Given the description of an element on the screen output the (x, y) to click on. 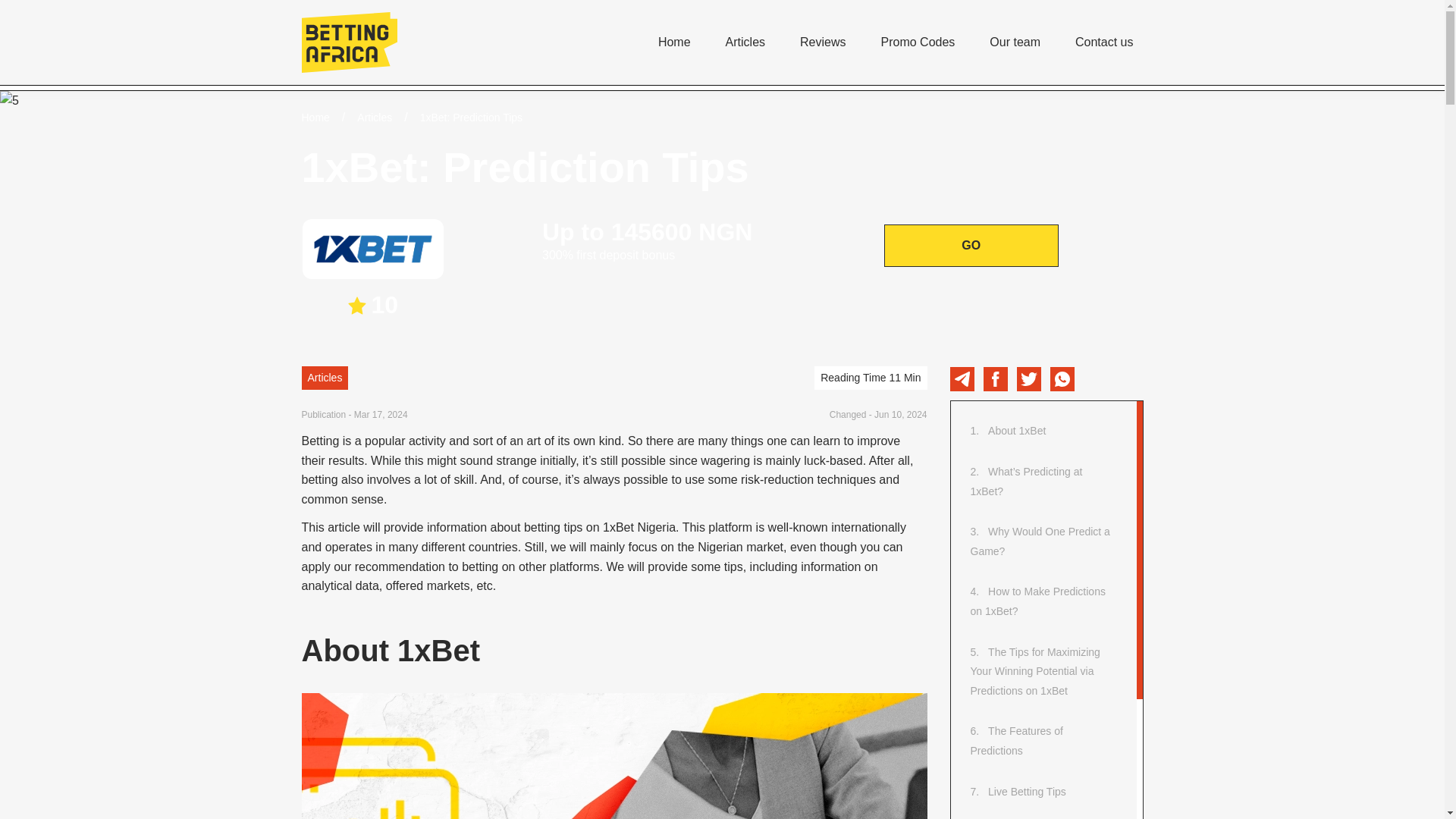
Contact us (1104, 42)
Main page (349, 42)
Articles (373, 117)
About 1xBet (1016, 430)
Our team (1014, 42)
Articles (745, 42)
Promo Codes (917, 42)
Why Would One Predict a Game? (1040, 541)
The Features of Predictions (1016, 740)
Live Betting Tips (1026, 791)
Home (315, 117)
Home (674, 42)
Reviews (822, 42)
How to Make Predictions on 1xBet? (1038, 600)
